Given the description of an element on the screen output the (x, y) to click on. 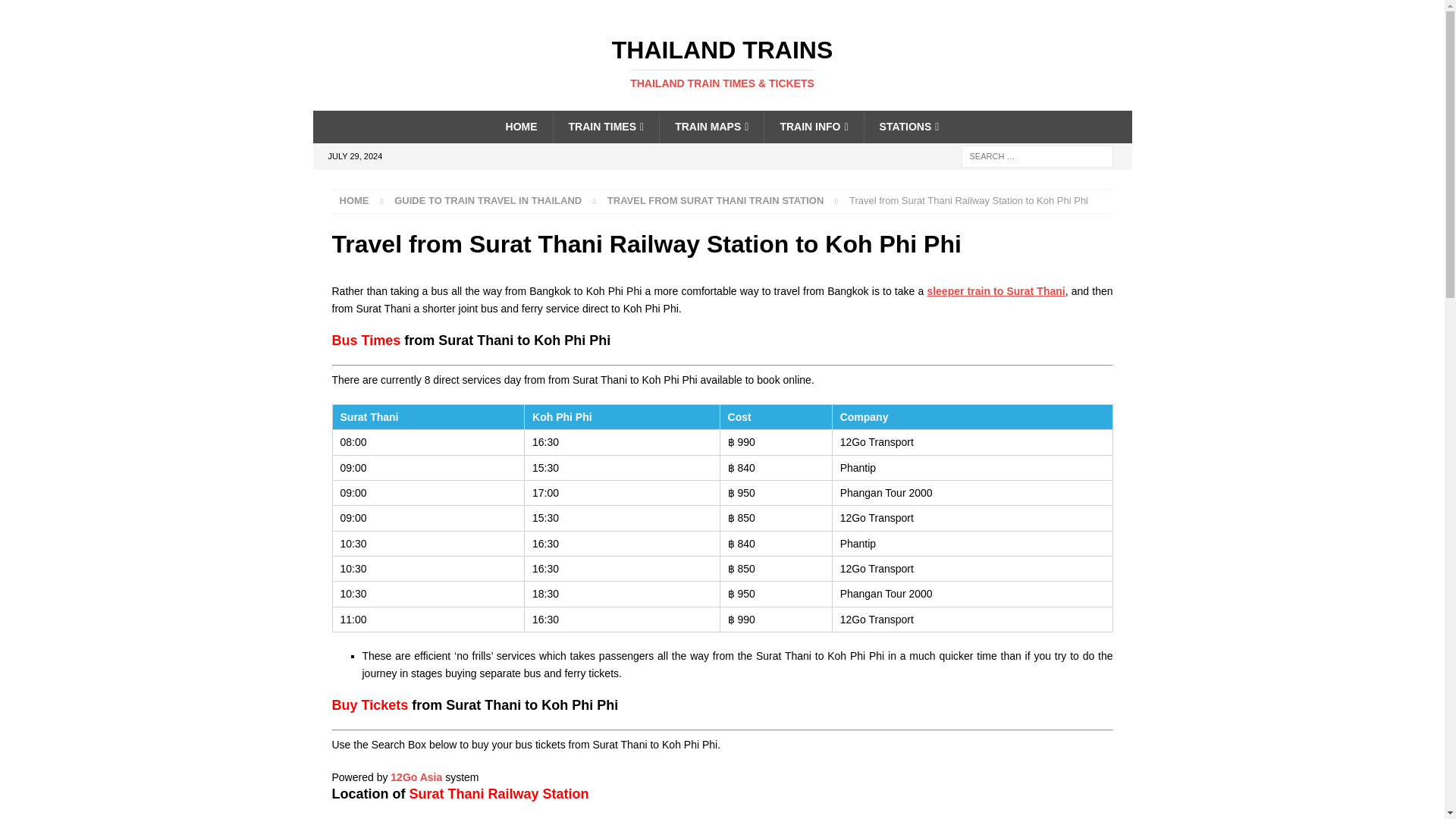
HOME (521, 126)
Home (354, 200)
Travel from Surat Thani Train Station (715, 200)
Thailand Trains (722, 63)
TRAIN TIMES (606, 126)
